Given the description of an element on the screen output the (x, y) to click on. 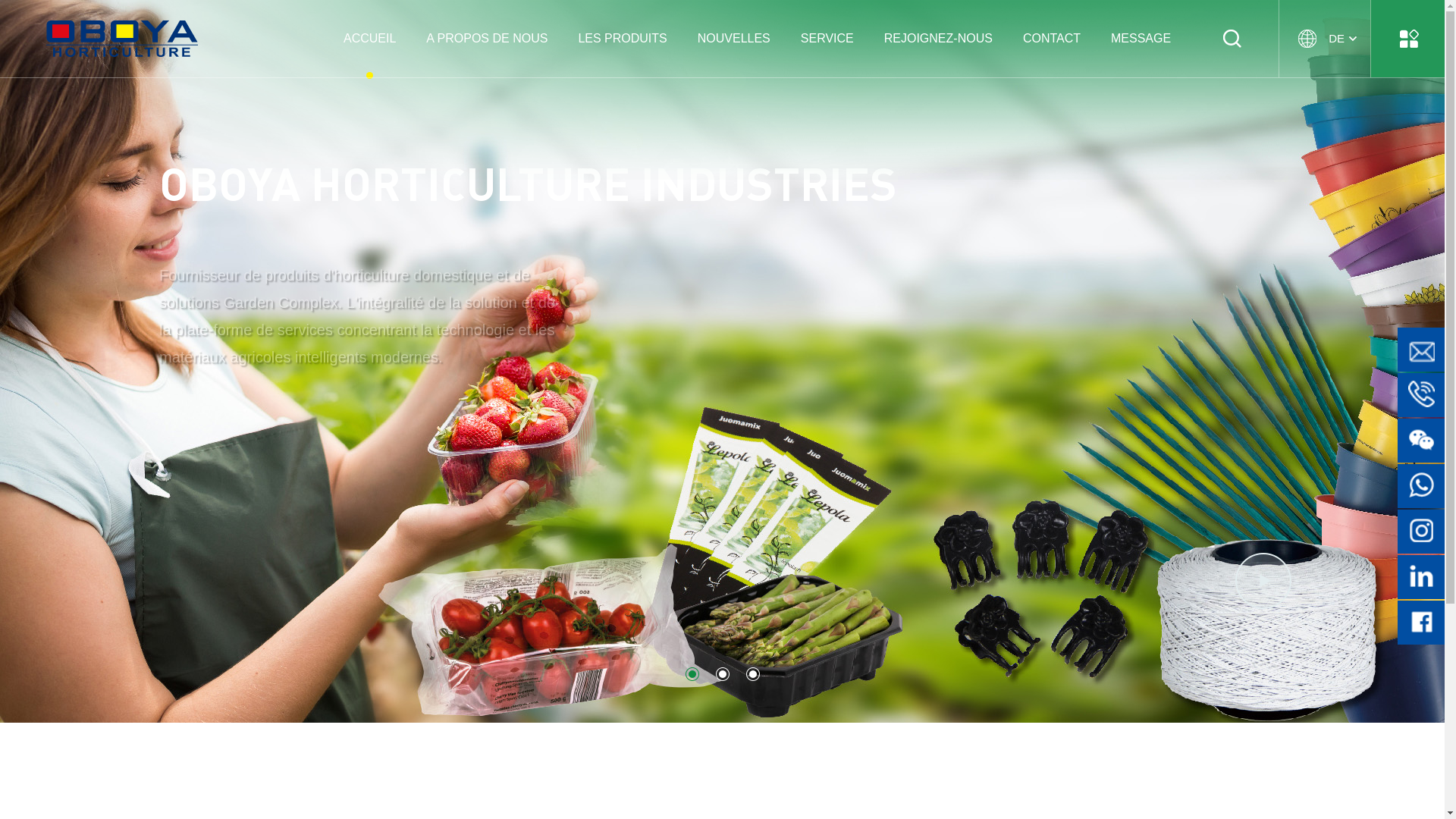
REJOIGNEZ-NOUS Element type: text (938, 37)
A PROPOS DE NOUS Element type: text (486, 37)
CONTACT Element type: text (1051, 37)
DE Element type: text (1321, 38)
DE Element type: text (1324, 38)
LES PRODUITS Element type: text (621, 37)
ACCUEIL Element type: text (369, 37)
NOUVELLES Element type: text (733, 37)
SERVICE Element type: text (826, 37)
MESSAGE Element type: text (1140, 37)
